Given the description of an element on the screen output the (x, y) to click on. 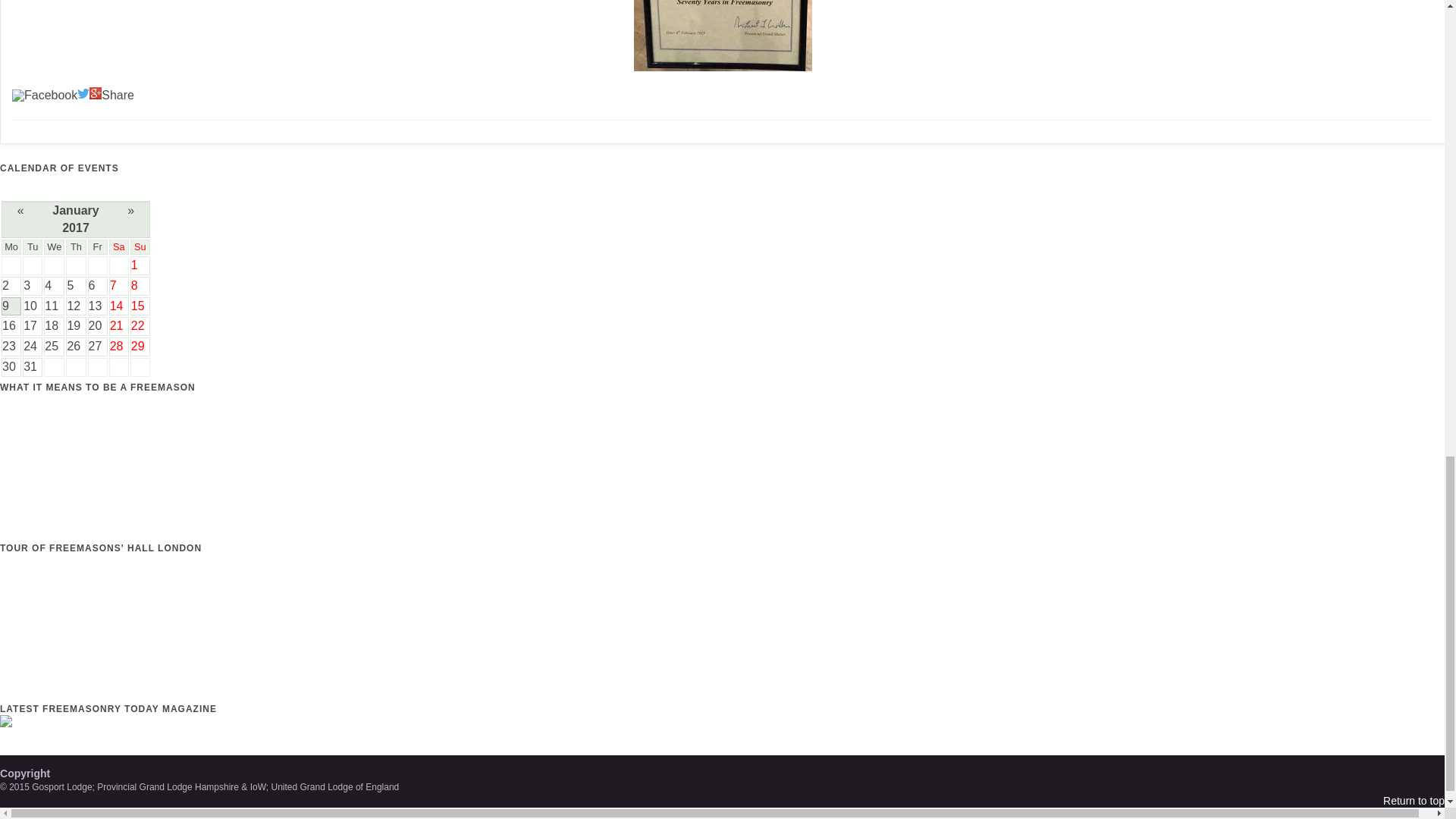
Return to top (1413, 800)
